Given the description of an element on the screen output the (x, y) to click on. 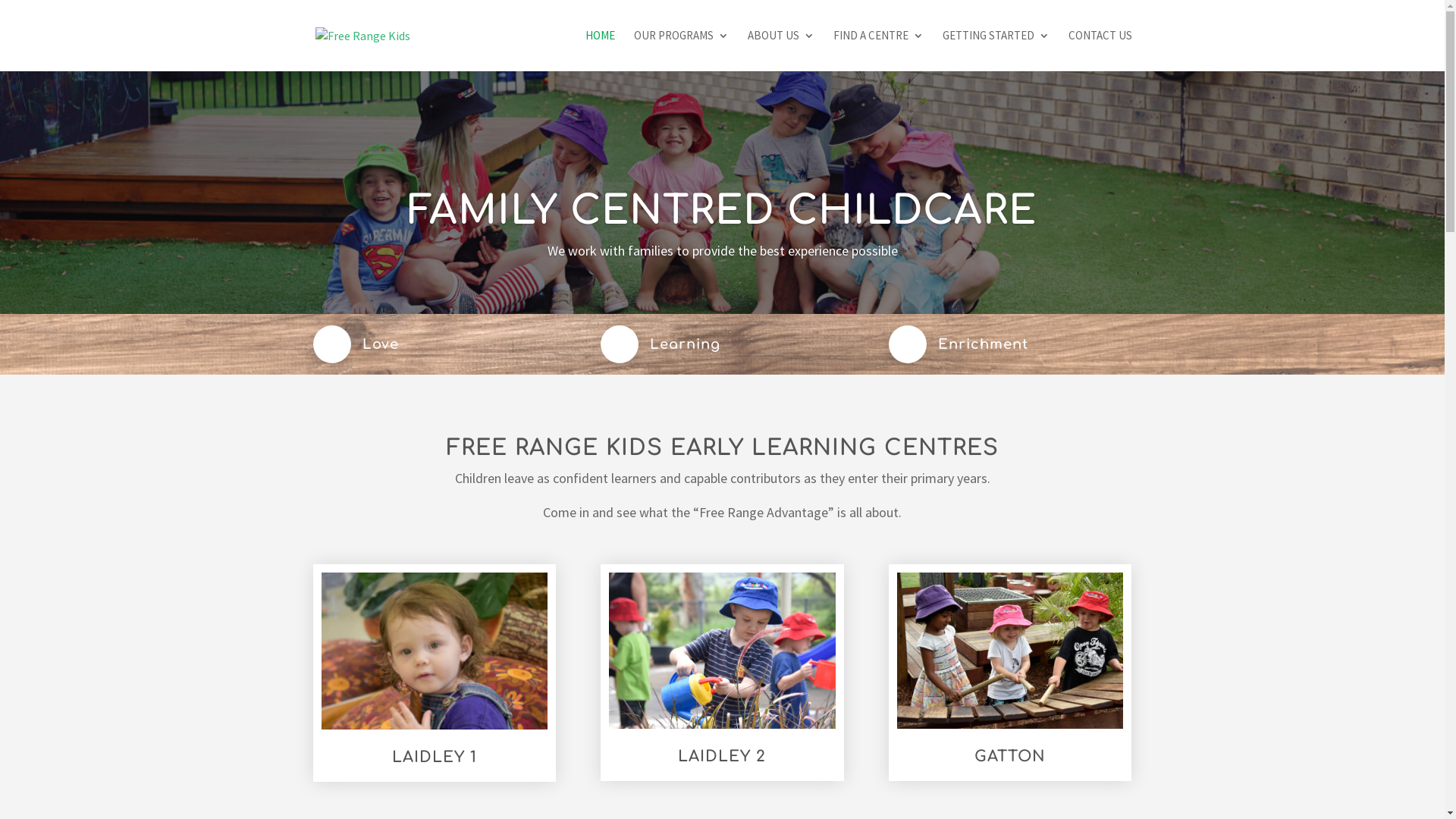
OUR PROGRAMS Element type: text (680, 50)
FIND A CENTRE Element type: text (877, 50)
HOME Element type: text (600, 50)
GETTING STARTED Element type: text (994, 50)
ABOUT US Element type: text (780, 50)
CONTACT US Element type: text (1099, 50)
